Given the description of an element on the screen output the (x, y) to click on. 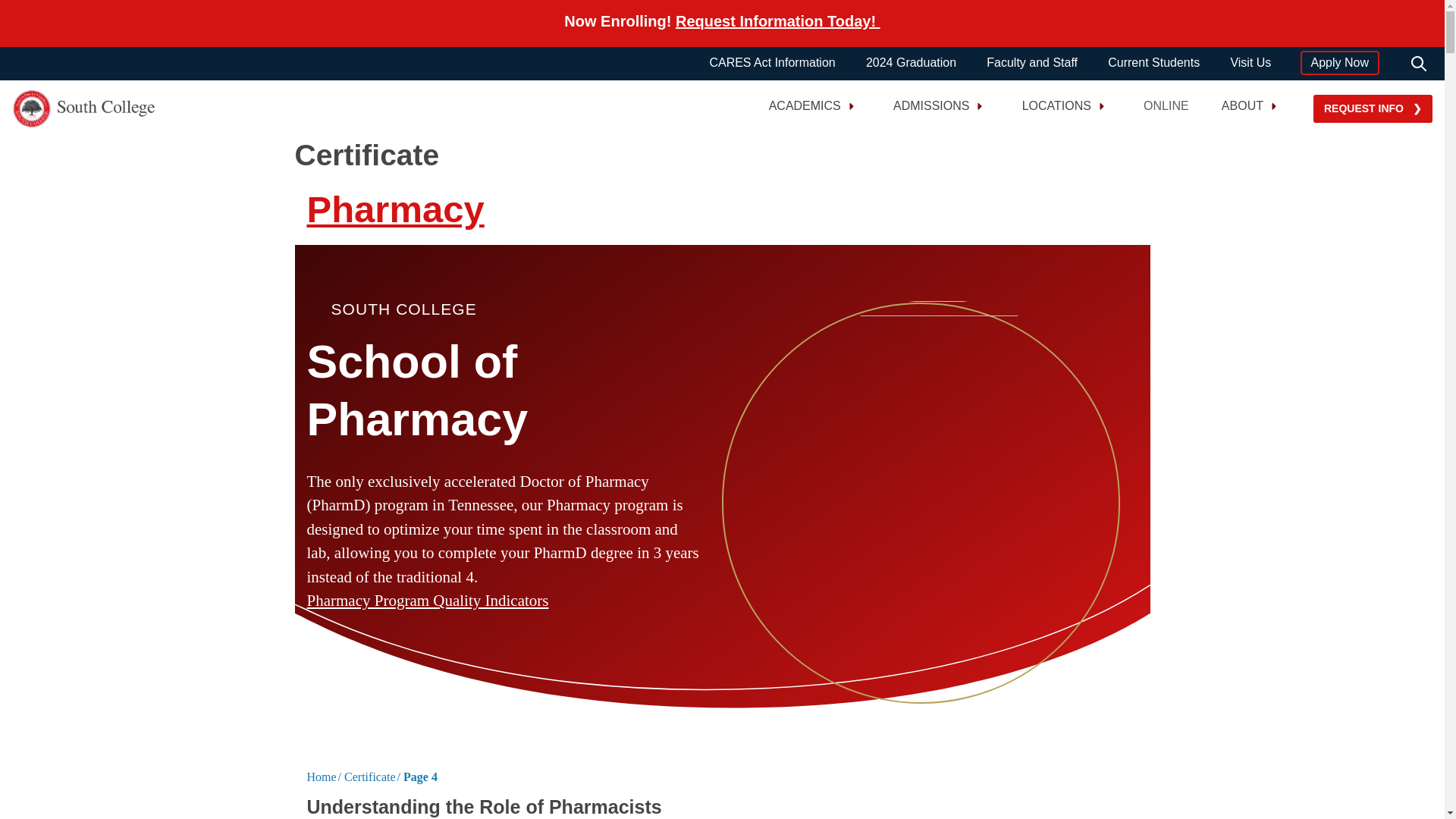
CARES Act Information (771, 63)
Faculty and Staff (1032, 63)
2024 Graduation (911, 63)
Visit Us (1250, 63)
Request Information Today!  (777, 21)
Apply Now (1339, 62)
Current Students (1153, 63)
South College (57, 108)
